Given the description of an element on the screen output the (x, y) to click on. 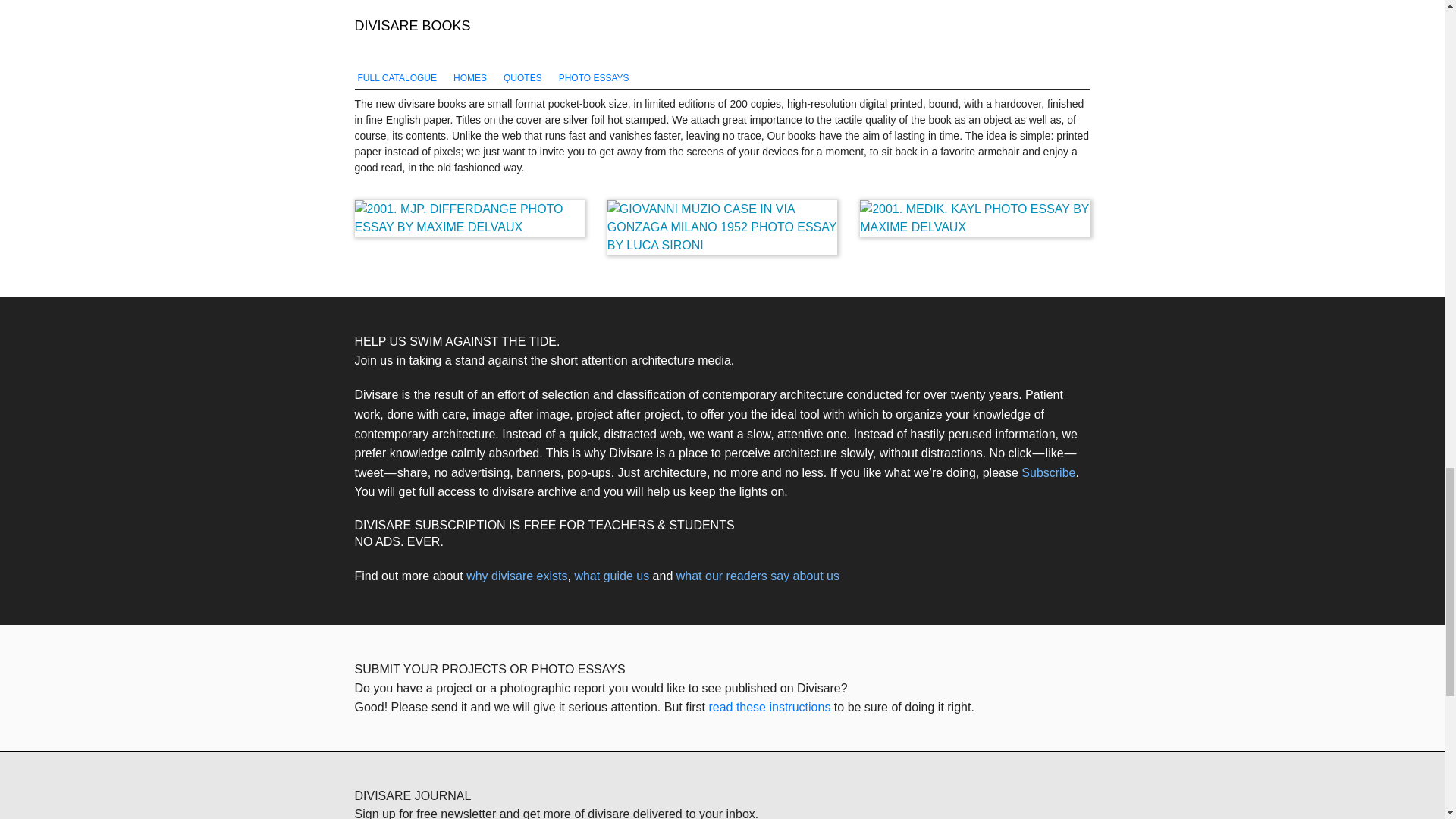
2001. MJP. DIFFERDANGE PHOTO ESSAY BY MAXIME DELVAUX (470, 217)
2001. MEDIK. KAYL PHOTO ESSAY BY MAXIME DELVAUX (974, 217)
